Given the description of an element on the screen output the (x, y) to click on. 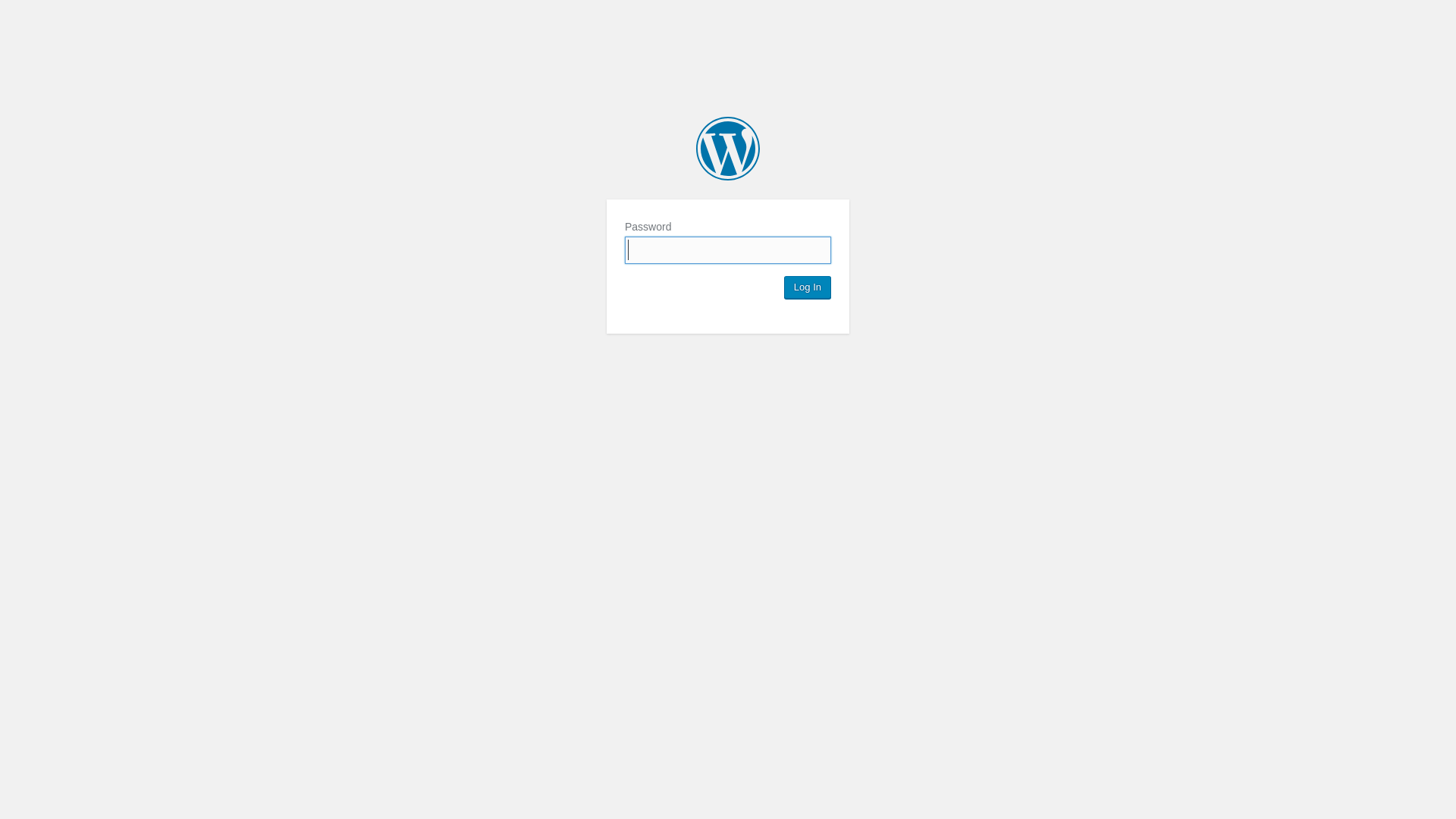
Health Industry Hub Element type: text (727, 148)
Log In Element type: text (807, 287)
